Given the description of an element on the screen output the (x, y) to click on. 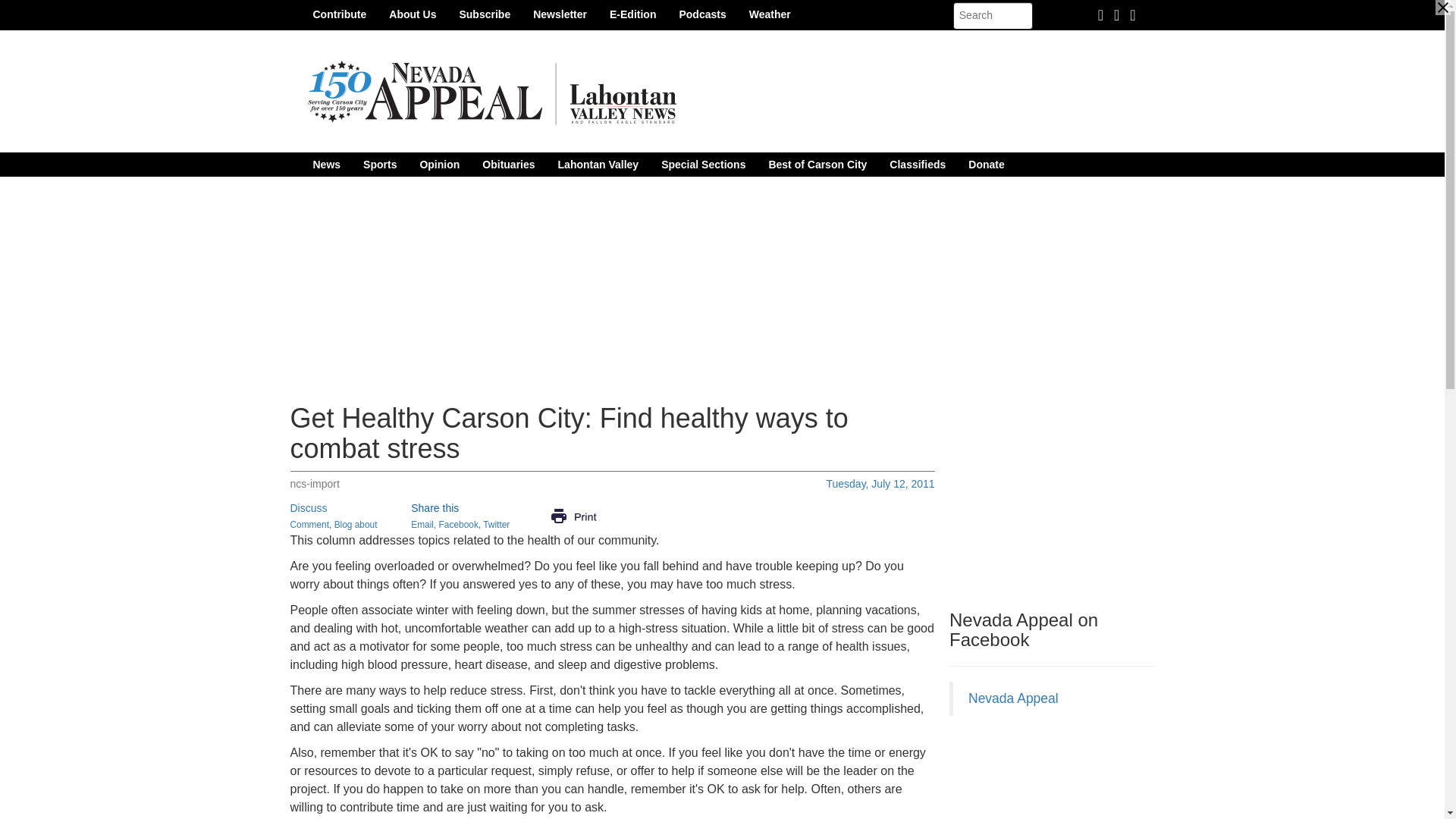
Contribute (339, 14)
Special Sections (703, 164)
Newsletter (559, 14)
Subscribe (483, 14)
News (326, 164)
Classifieds (916, 164)
About Us (411, 14)
Podcasts (701, 14)
Weather (770, 14)
E-Edition (632, 14)
Sports (379, 164)
Obituaries (508, 164)
Lahontan Valley (598, 164)
Opinion (438, 164)
Printer Friendly and PDF (572, 515)
